Given the description of an element on the screen output the (x, y) to click on. 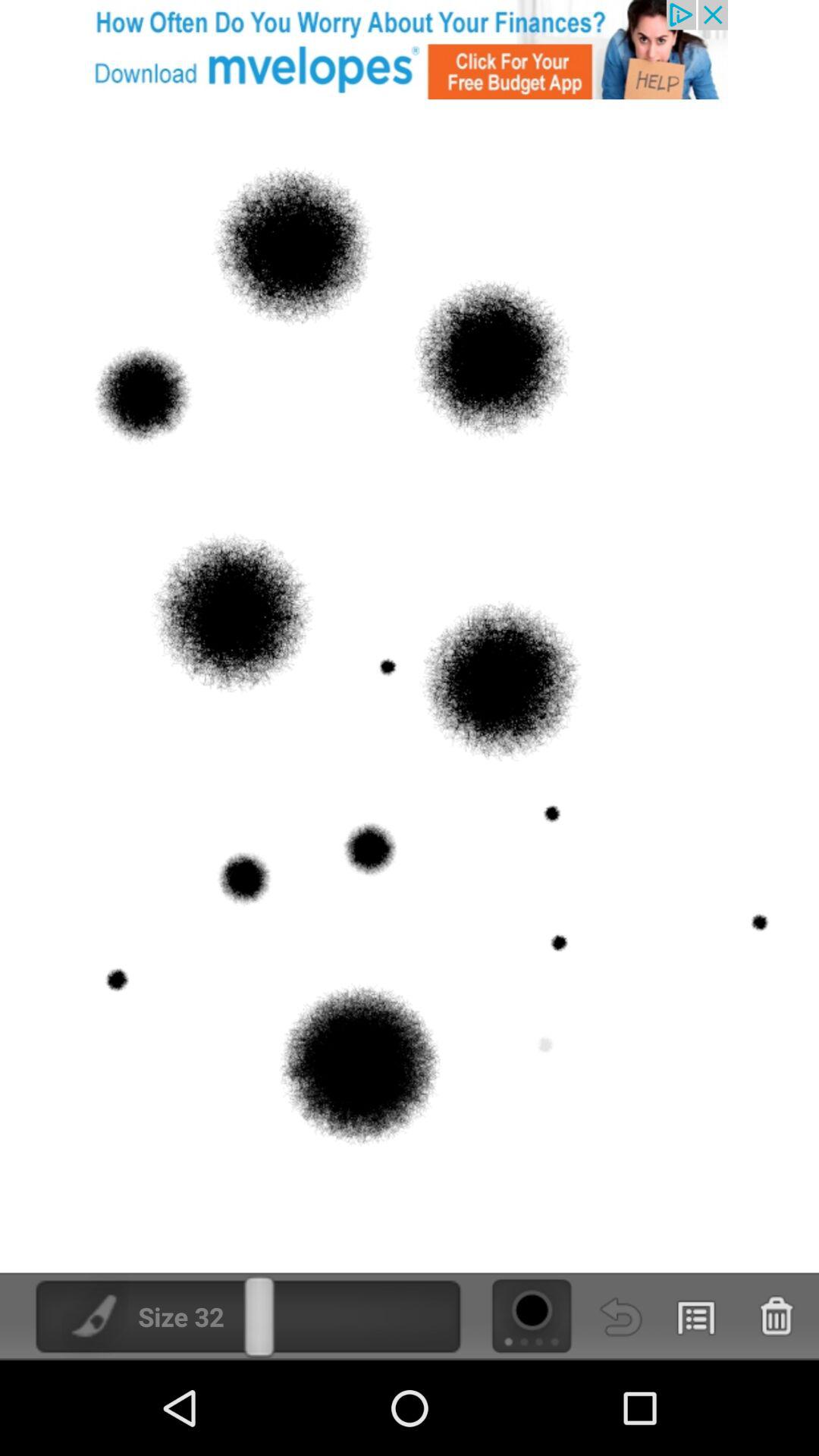
open advertisement (409, 49)
